Given the description of an element on the screen output the (x, y) to click on. 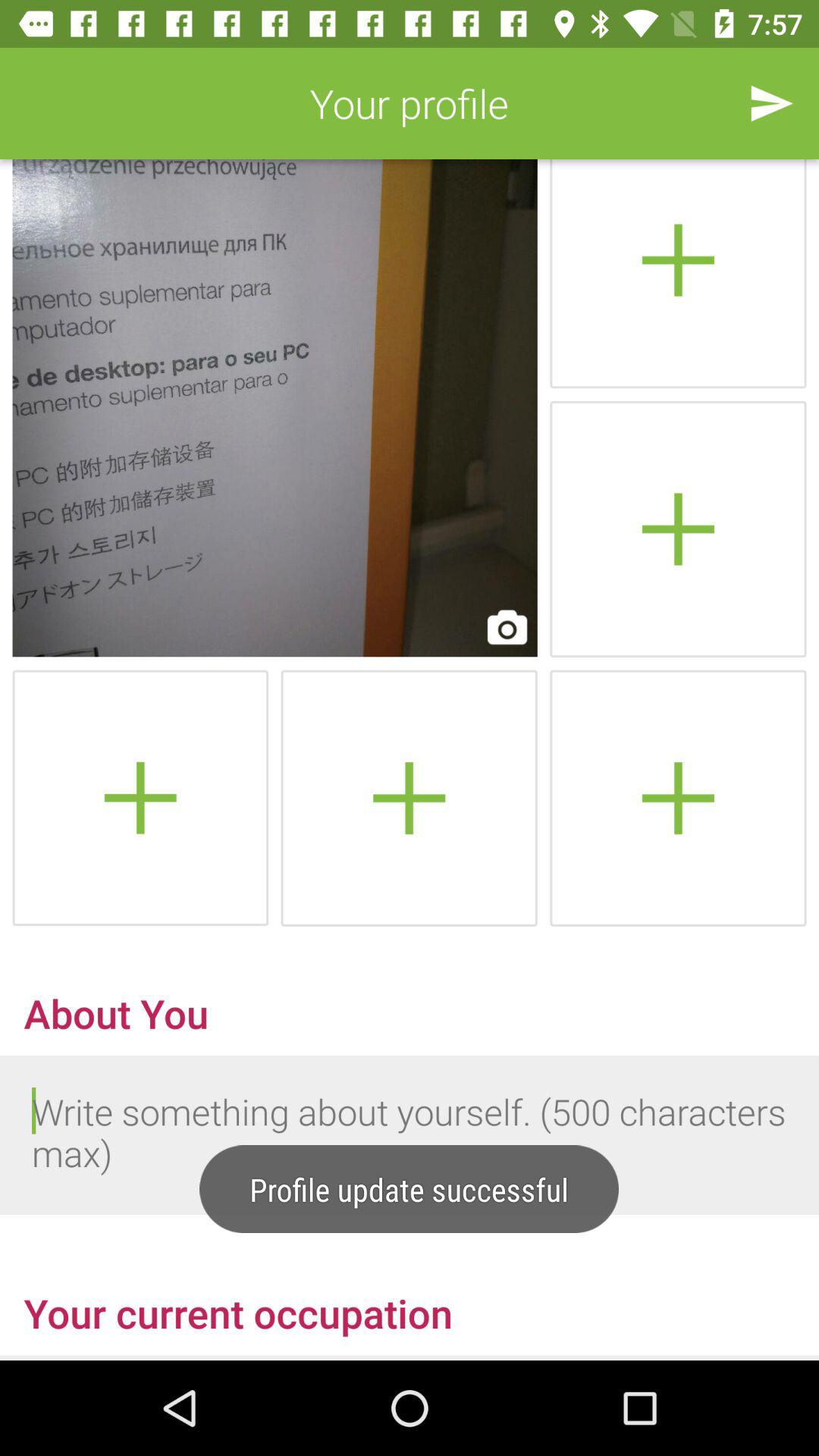
add photo (140, 797)
